Given the description of an element on the screen output the (x, y) to click on. 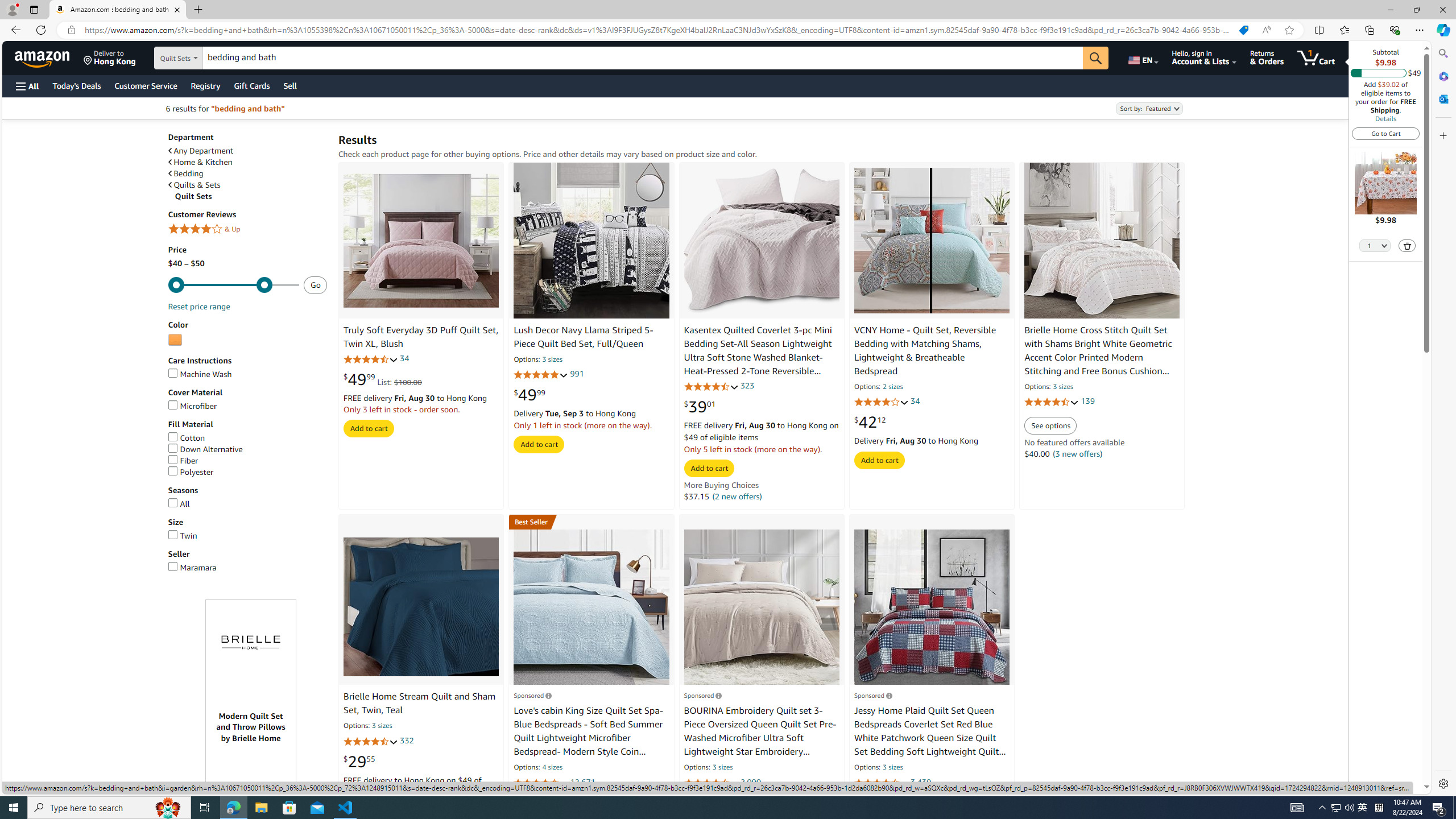
Registry (205, 85)
Down Alternative (205, 449)
Details (1385, 118)
$29.55 (359, 761)
Logo (250, 642)
Amazon (43, 57)
See options (1050, 425)
Maximum (233, 285)
Truly Soft Everyday 3D Puff Quilt Set, Twin XL, Blush (421, 240)
Side bar (1443, 418)
(2 new offers) (736, 495)
Outlook (1442, 98)
